Given the description of an element on the screen output the (x, y) to click on. 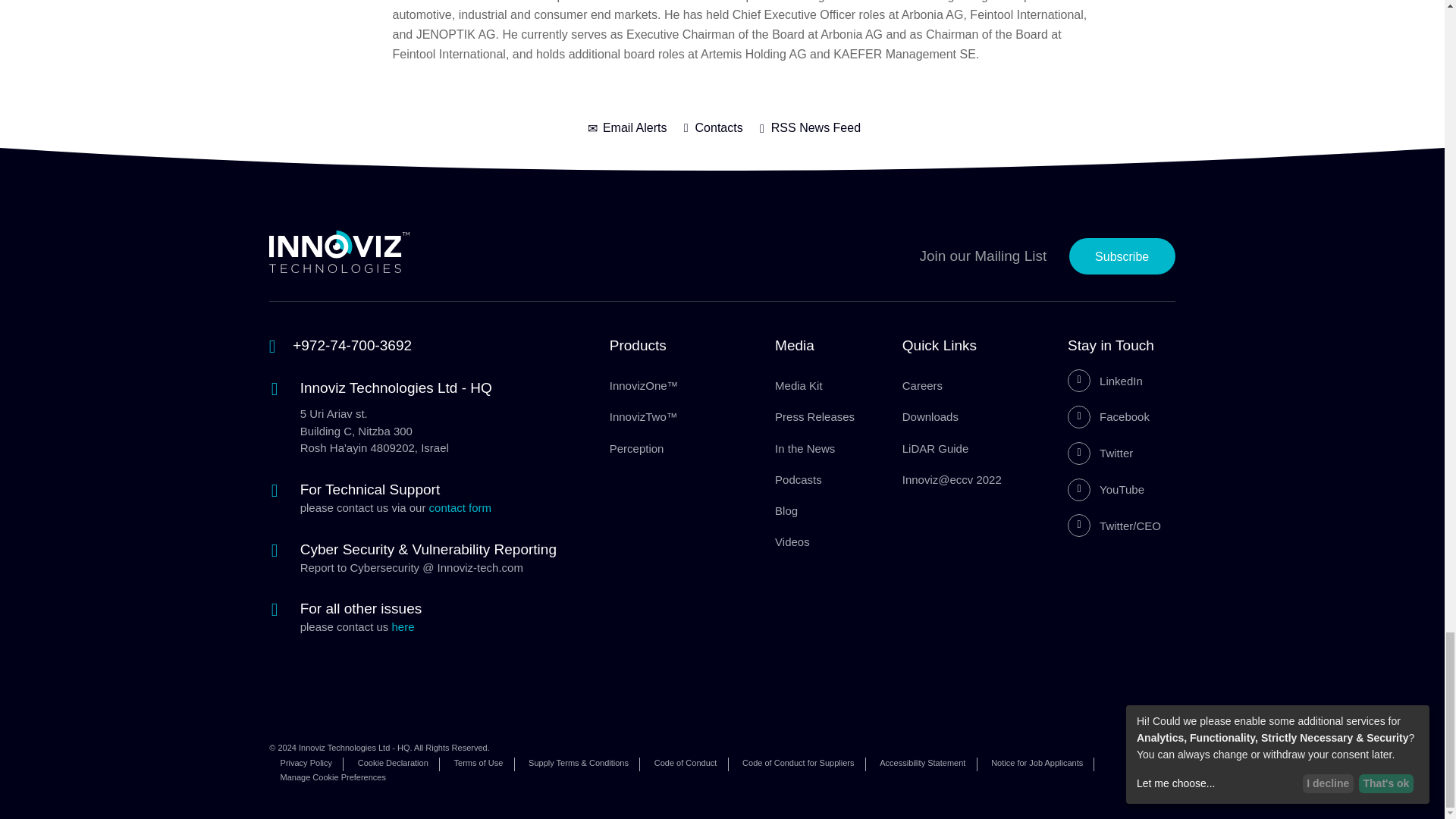
facebook (1134, 416)
youtube (1134, 489)
twitter (1134, 525)
linkedin (1134, 380)
twitter (1134, 453)
